Given the description of an element on the screen output the (x, y) to click on. 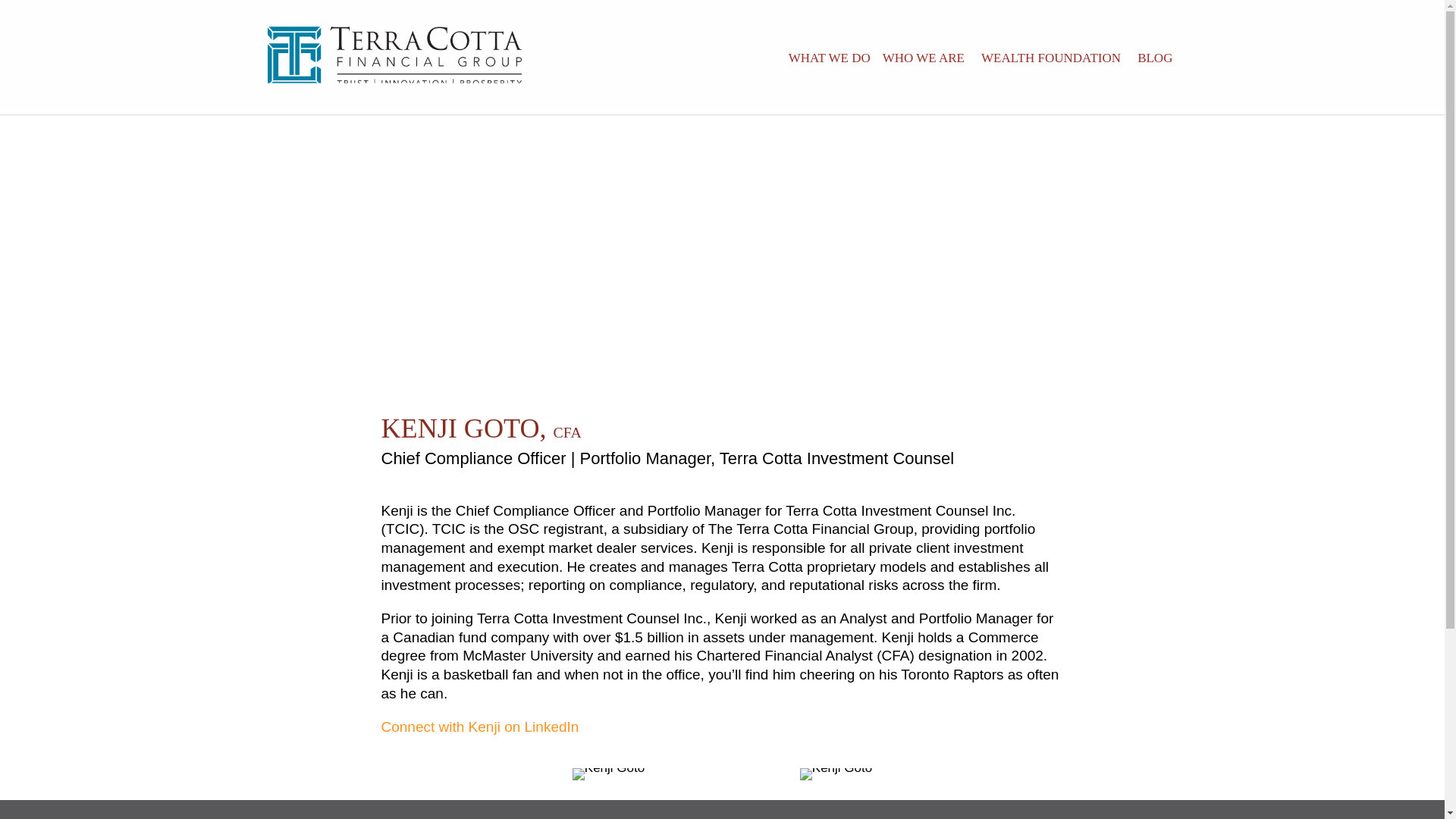
WEALTH FOUNDATION (1050, 57)
kenji-hobby-serious-orig-aspect (835, 774)
BLOG (1154, 57)
kenji-frontal-orig-aspect (608, 774)
WHAT WE DO (827, 57)
WHO WE ARE (923, 57)
Connect with Kenji on LinkedIn (479, 726)
